Given the description of an element on the screen output the (x, y) to click on. 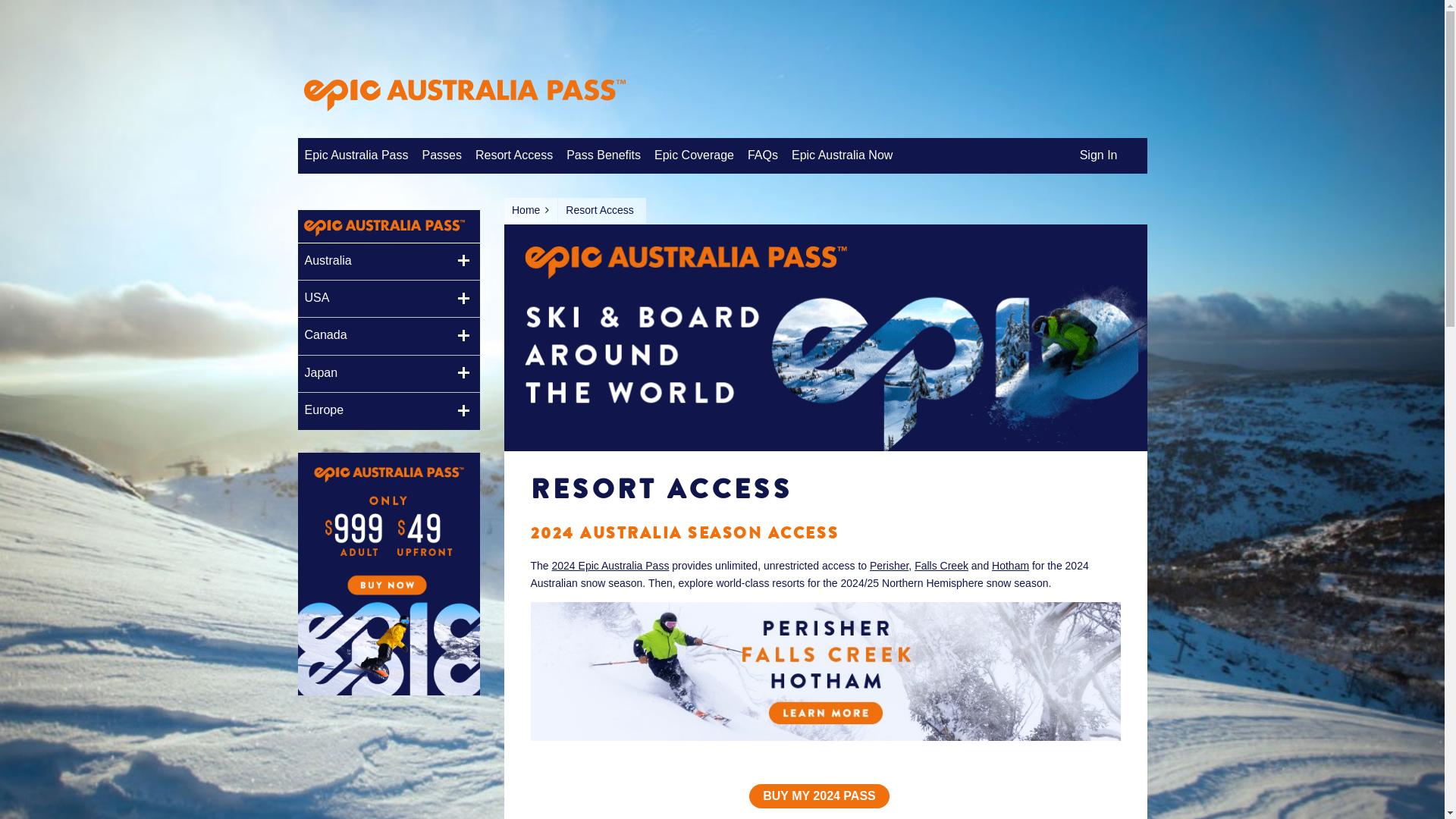
Epic Australia Pass Element type: text (355, 155)
Pass Benefits Element type: text (603, 155)
Epic Australia Now Element type: text (841, 155)
BUY MY 2024 PASS Element type: text (819, 796)
Resort Access Element type: text (513, 155)
FAQs Element type: text (762, 155)
Perisher Element type: text (888, 565)
Hotham Element type: text (1010, 565)
Japan Element type: text (388, 373)
Australia Element type: text (388, 261)
2024 Epic Australia Pass Element type: text (610, 565)
Falls Creek Element type: text (941, 565)
Passes Element type: text (440, 155)
Epic Coverage Element type: text (693, 155)
Canada Element type: text (388, 335)
USA Element type: text (388, 298)
Europe Element type: text (388, 410)
Home Element type: text (529, 210)
Sign In Element type: text (1098, 155)
EAP 24 Skyscraper Element type: hover (388, 690)
